Given the description of an element on the screen output the (x, y) to click on. 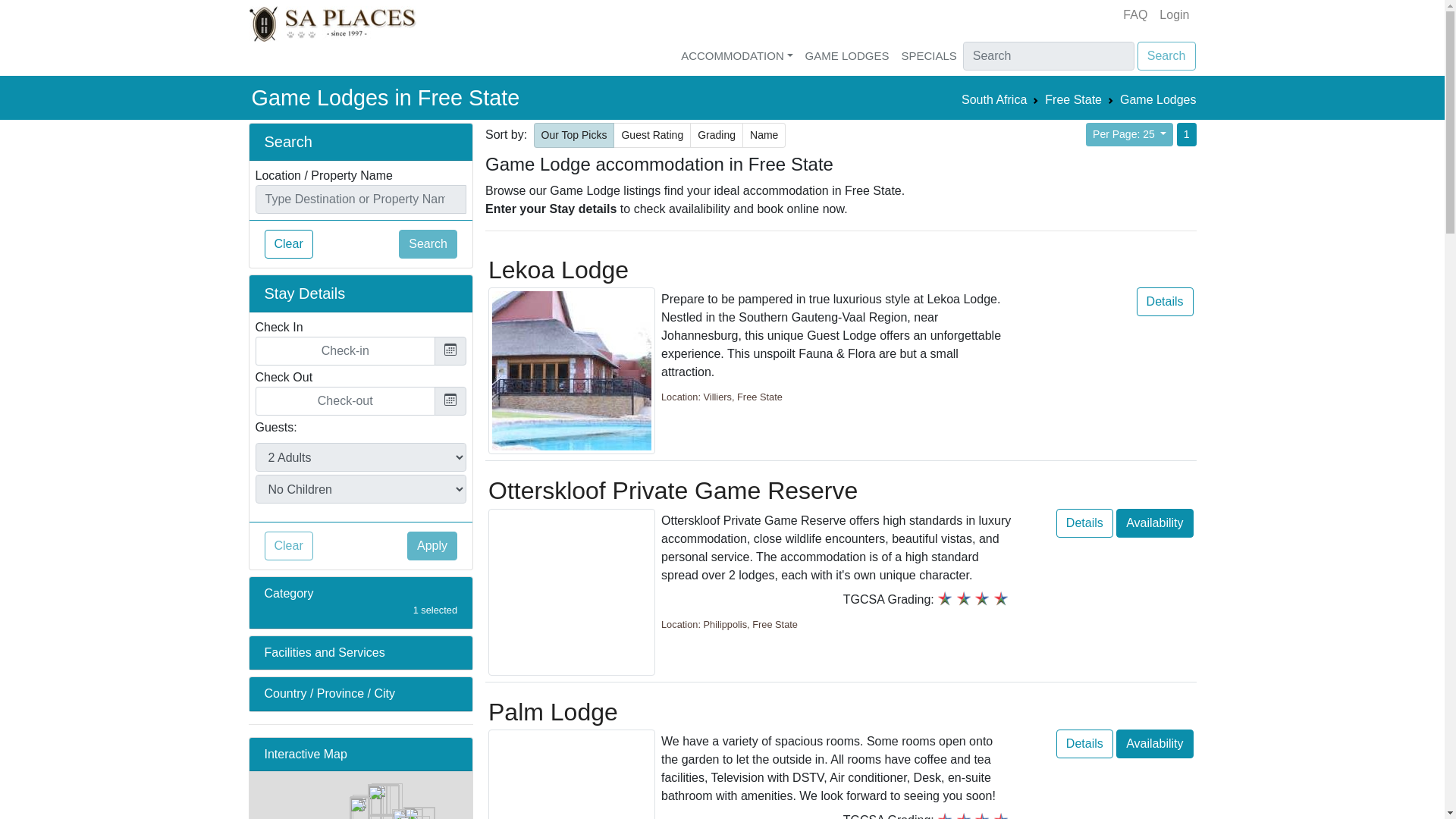
Search (1166, 55)
SPECIALS (928, 56)
South Africa (993, 98)
Accommodation in Free State (1073, 98)
Free State (1073, 98)
ACCOMMODATION (736, 56)
Clear (288, 244)
Game Lodges (1157, 98)
Swimming pool with restaurant at the back (571, 370)
GAME LODGES (847, 56)
